Given the description of an element on the screen output the (x, y) to click on. 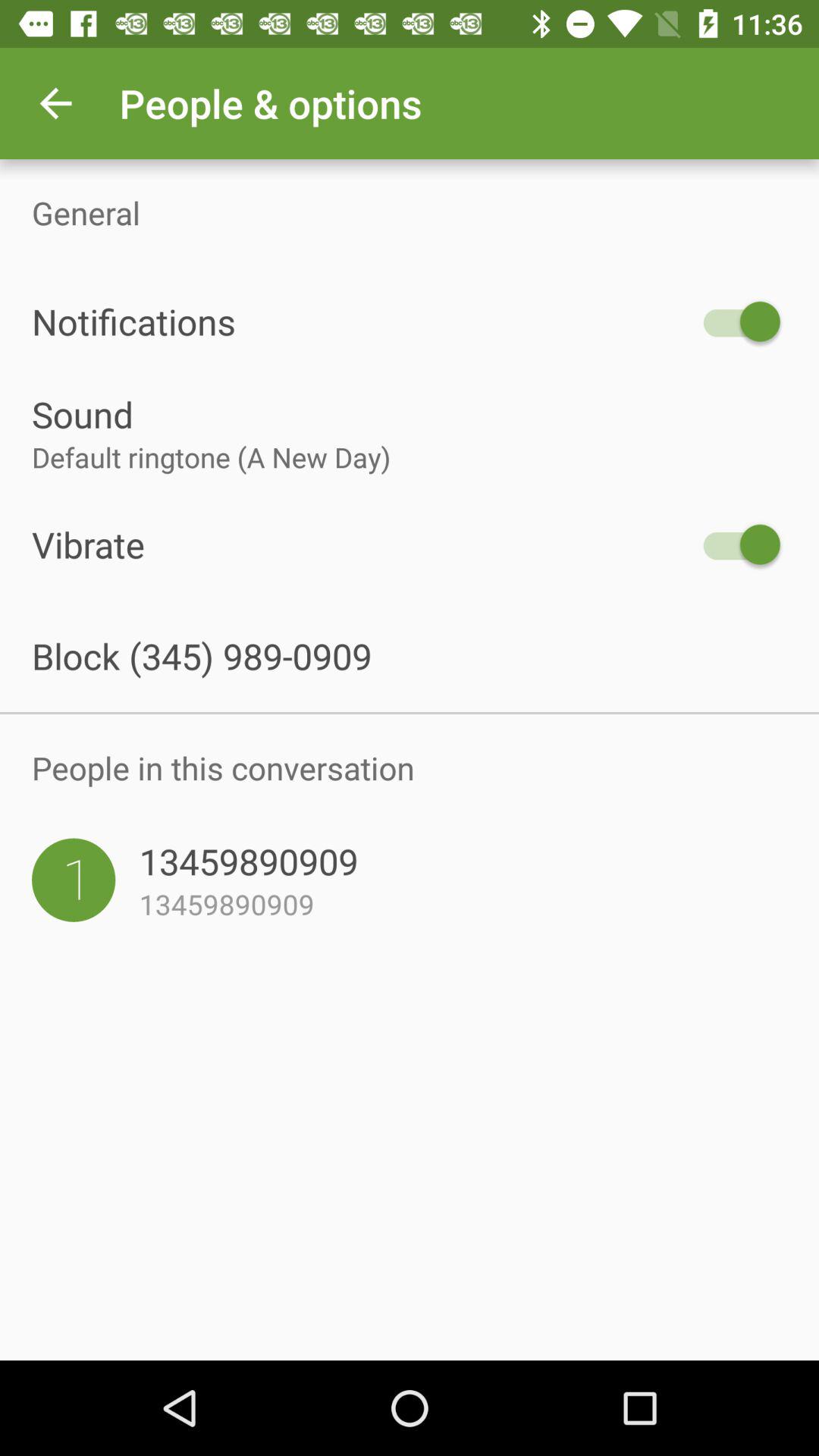
click the default ringtone a (409, 457)
